Given the description of an element on the screen output the (x, y) to click on. 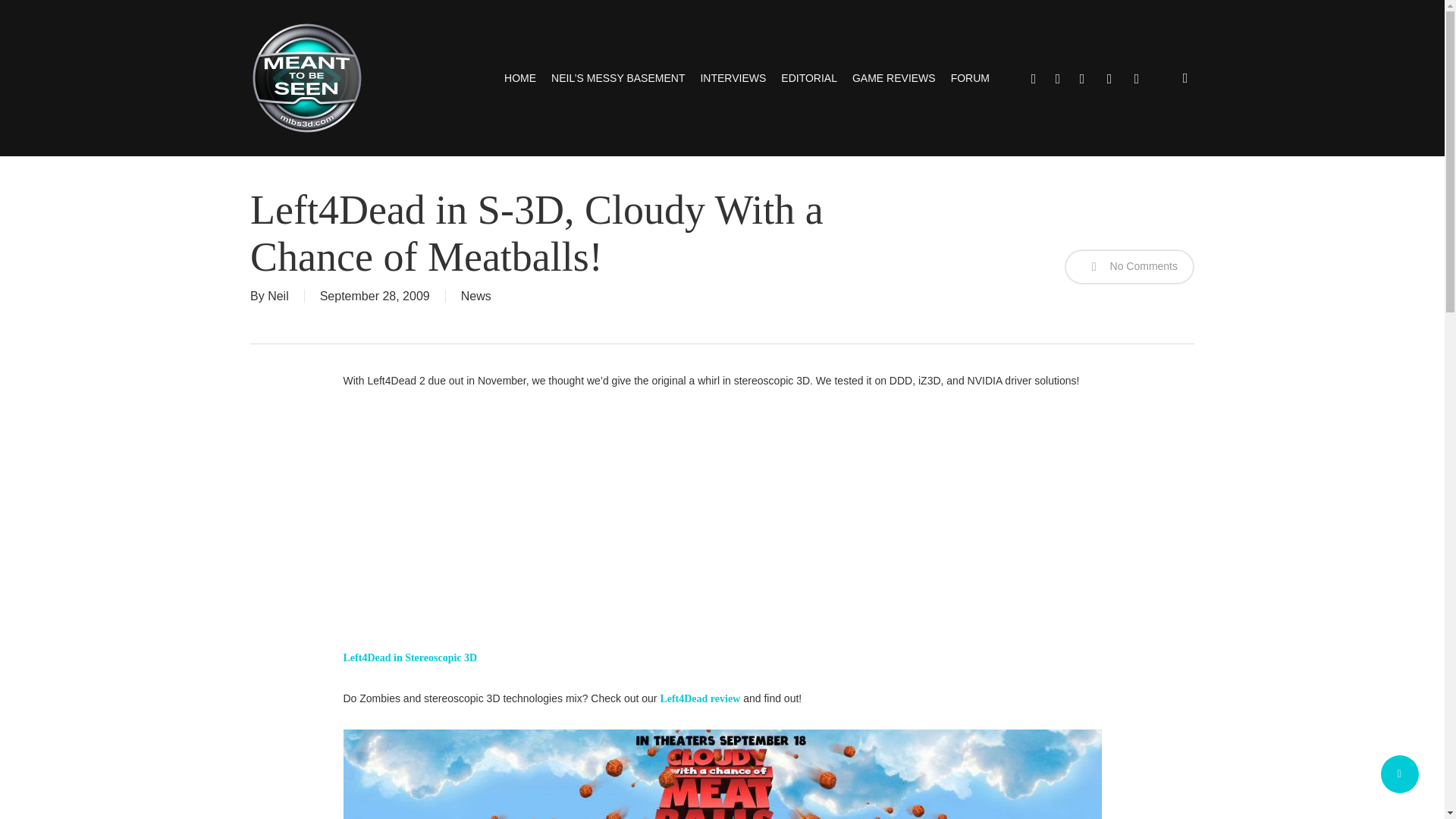
facebook (1057, 77)
News (476, 295)
search (1184, 77)
No Comments (1128, 266)
Left4Dead in Stereoscopic 3D (409, 657)
EDITORIAL (808, 77)
HOME (519, 77)
email (1136, 77)
Left4Dead review (699, 698)
twitter (1033, 77)
